Given the description of an element on the screen output the (x, y) to click on. 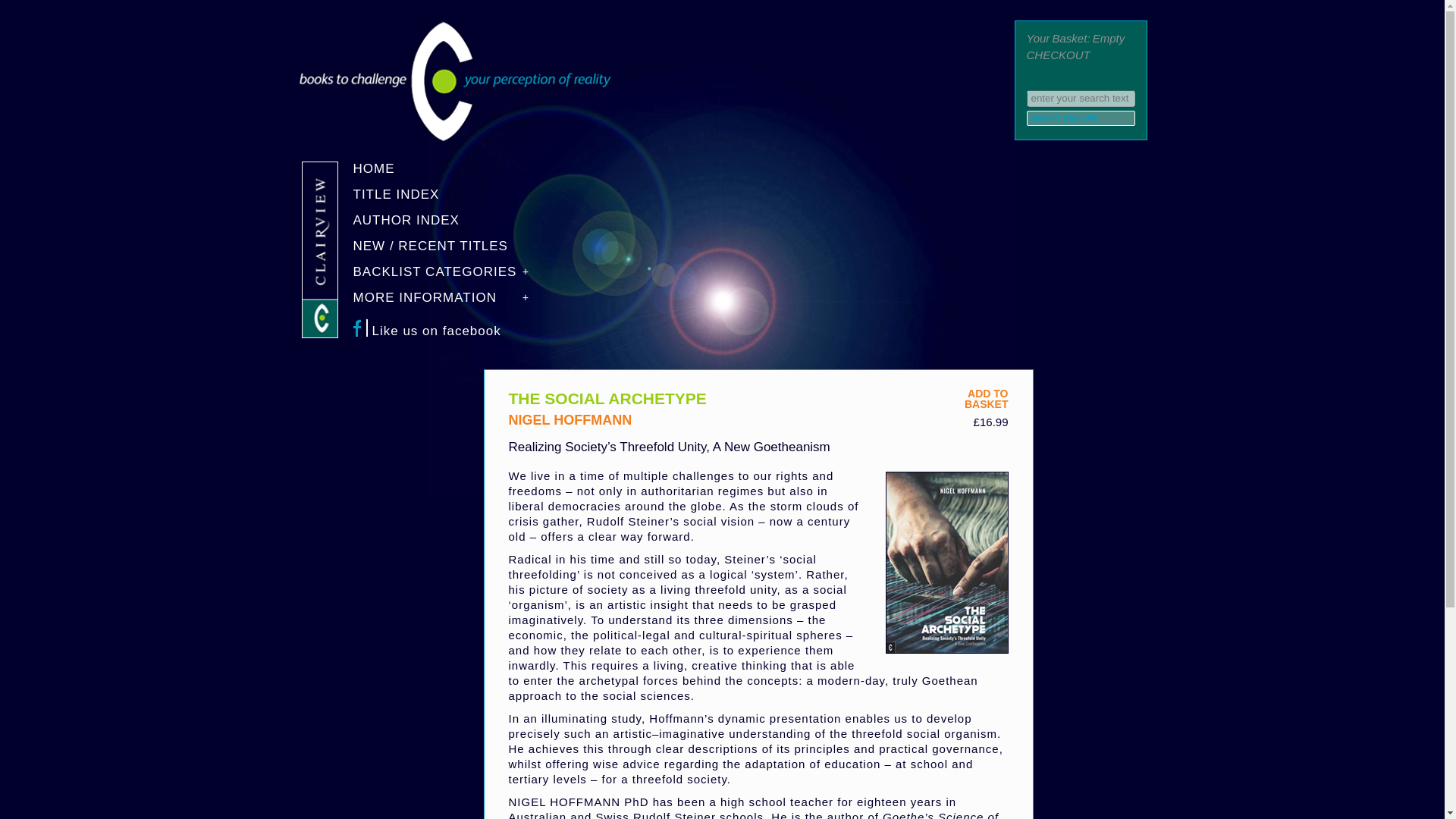
TITLE INDEX (448, 198)
HOME (448, 172)
search this site (1080, 118)
MORE INFORMATION (448, 301)
Home Page (454, 137)
NIGEL HOFFMANN (986, 398)
BACKLIST CATEGORIES (569, 419)
Like us on facebook (448, 275)
search this site (448, 331)
AUTHOR INDEX (1080, 118)
